Given the description of an element on the screen output the (x, y) to click on. 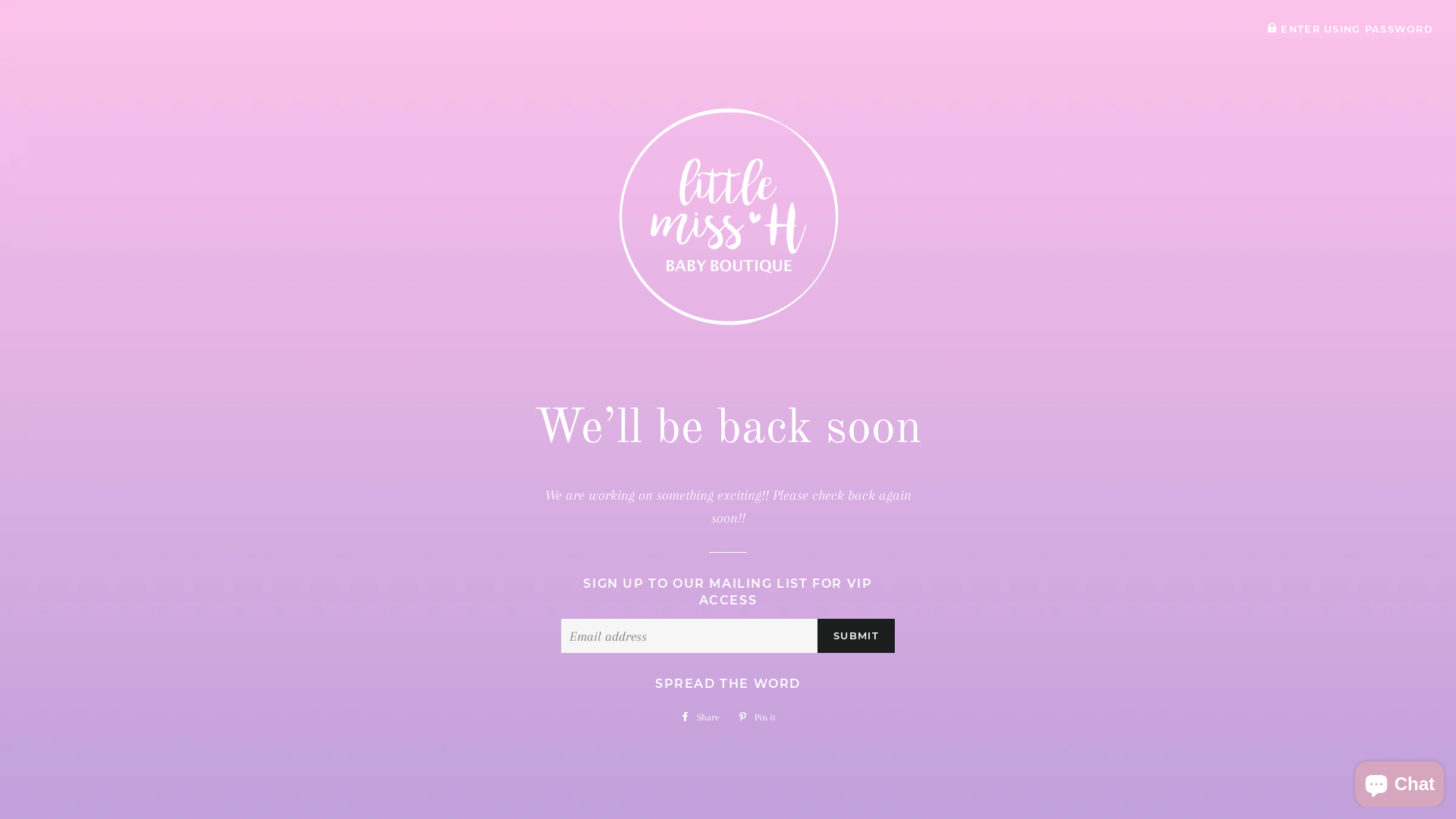
Pin it
Pin on Pinterest Element type: text (756, 717)
Shopify online store chat Element type: hover (1399, 780)
Share
Share on Facebook Element type: text (699, 717)
LOCK ICON ENTER USING PASSWORD Element type: text (1350, 28)
Submit Element type: text (855, 635)
